Given the description of an element on the screen output the (x, y) to click on. 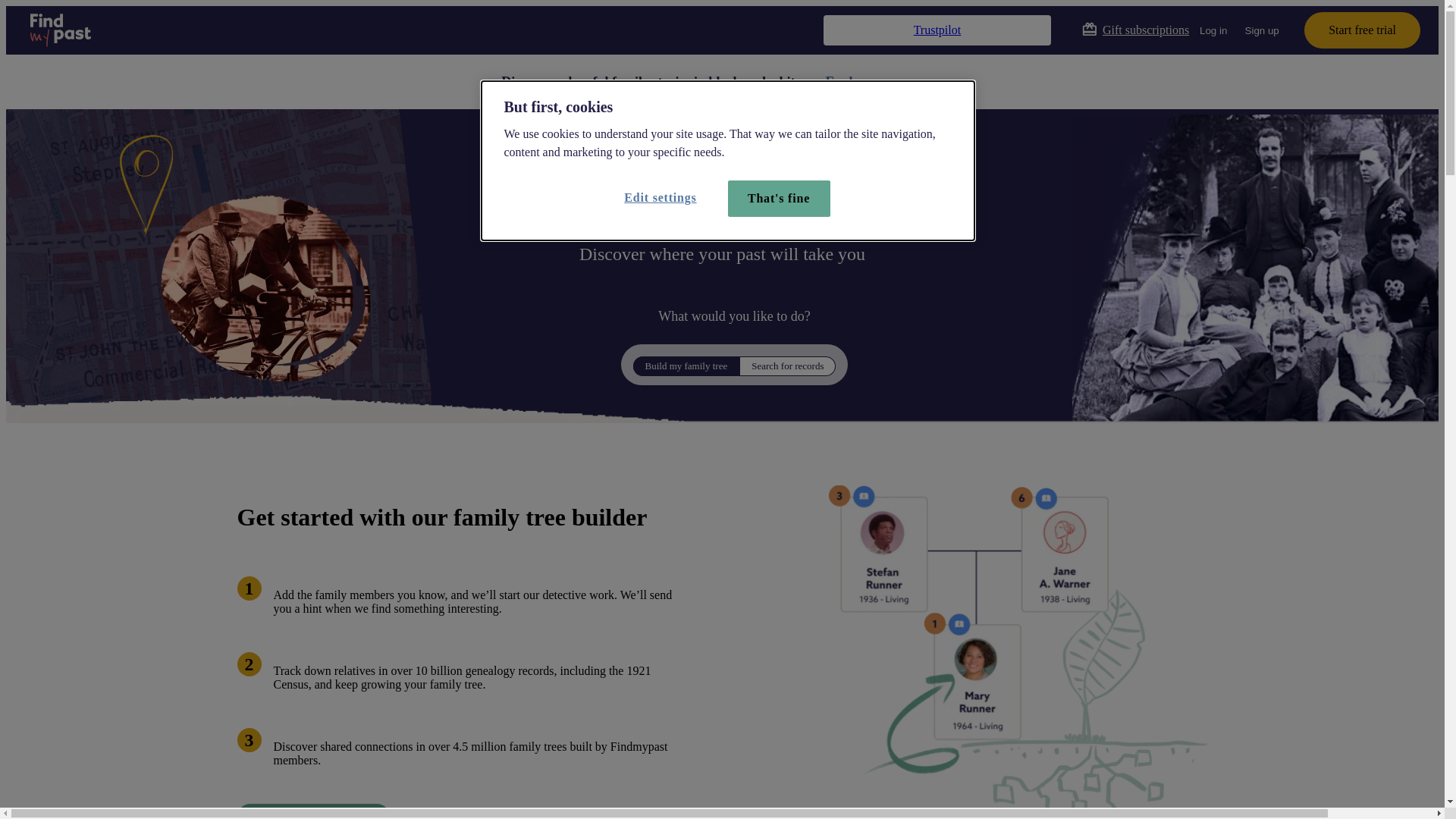
Edit settings Element type: text (663, 197)
Gift subscriptions Element type: text (1135, 30)
Trustpilot Element type: text (937, 30)
Sign up Element type: text (1261, 30)
Log in Element type: text (1213, 30)
Start free trial Element type: text (1362, 30)
That's fine Element type: text (779, 198)
